Given the description of an element on the screen output the (x, y) to click on. 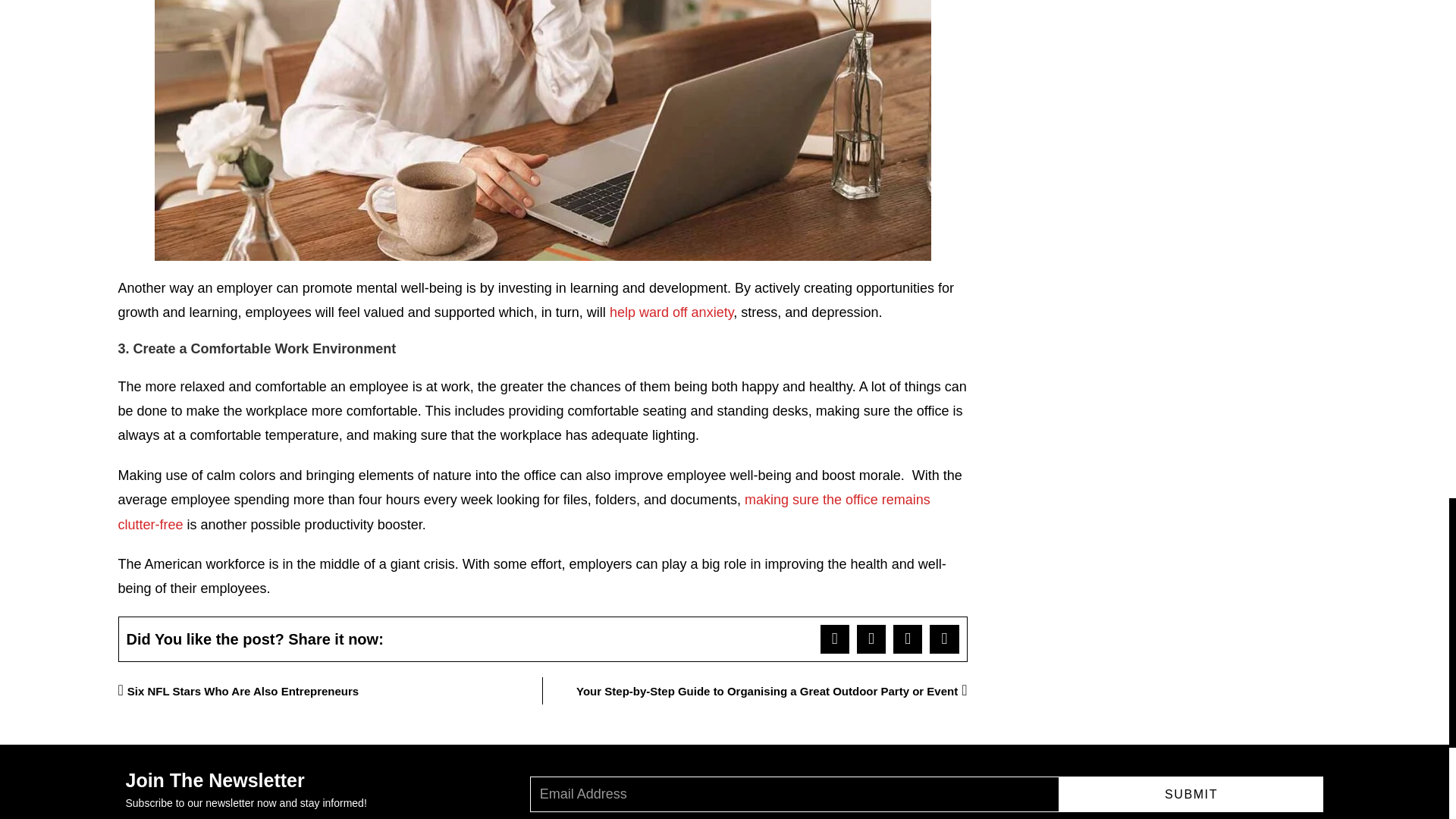
making sure the office remains clutter-free (523, 511)
SUBMIT (1191, 794)
Six NFL Stars Who Are Also Entrepreneurs (330, 690)
help ward off anxiety (671, 312)
